Given the description of an element on the screen output the (x, y) to click on. 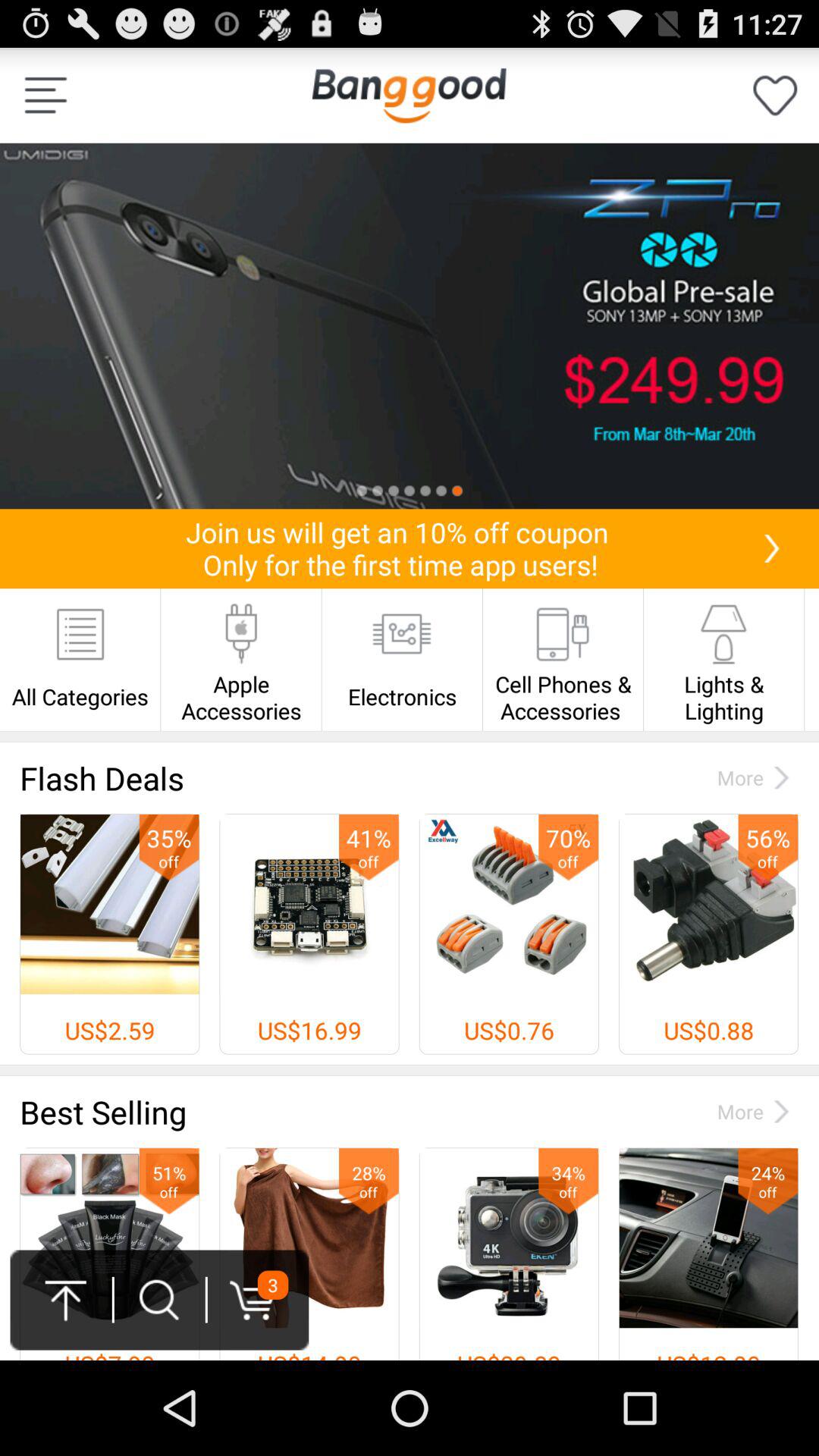
click for more information (409, 326)
